Given the description of an element on the screen output the (x, y) to click on. 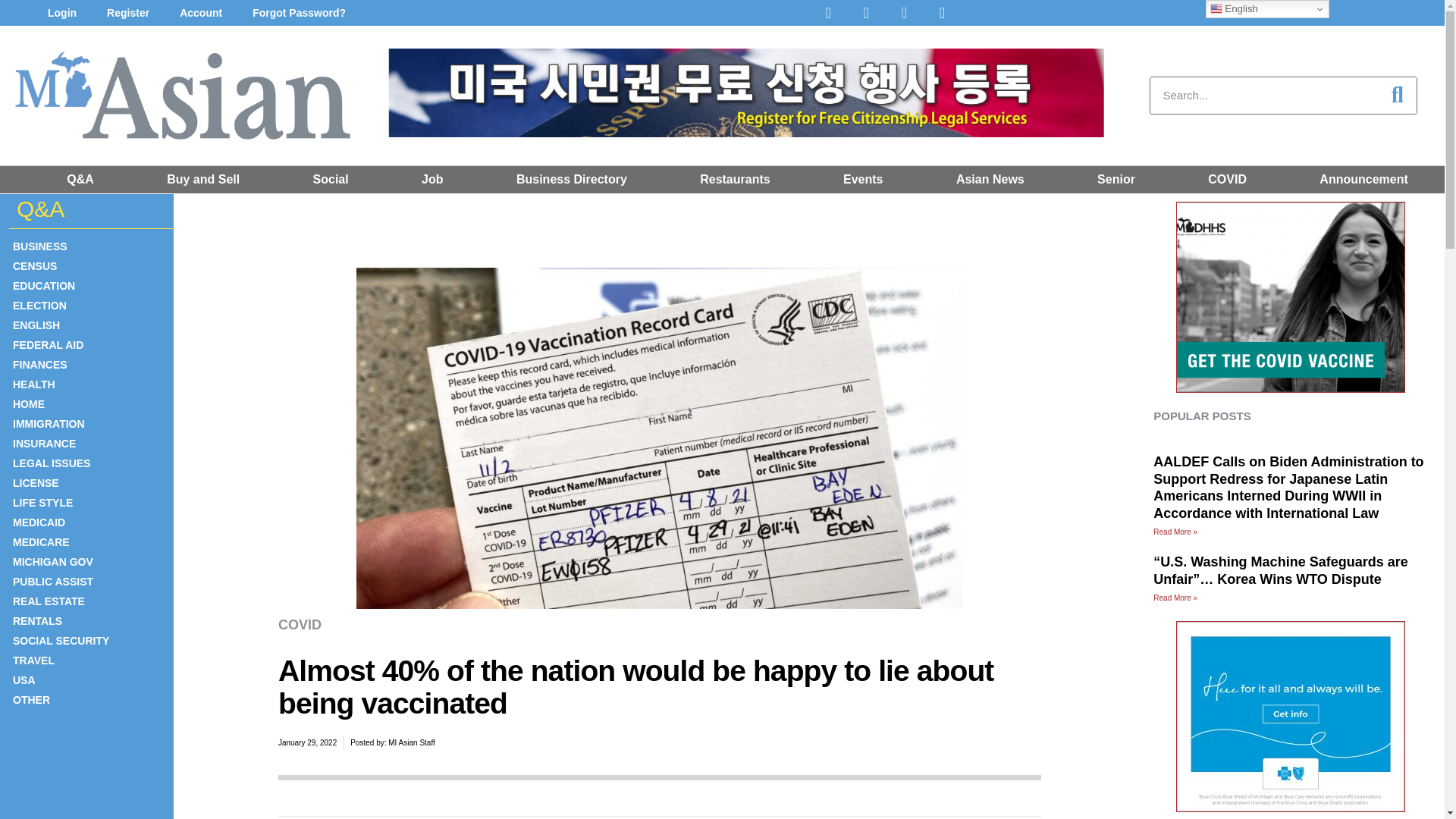
Register (127, 12)
Account (200, 12)
Forgot Password? (299, 12)
Login (61, 12)
